Given the description of an element on the screen output the (x, y) to click on. 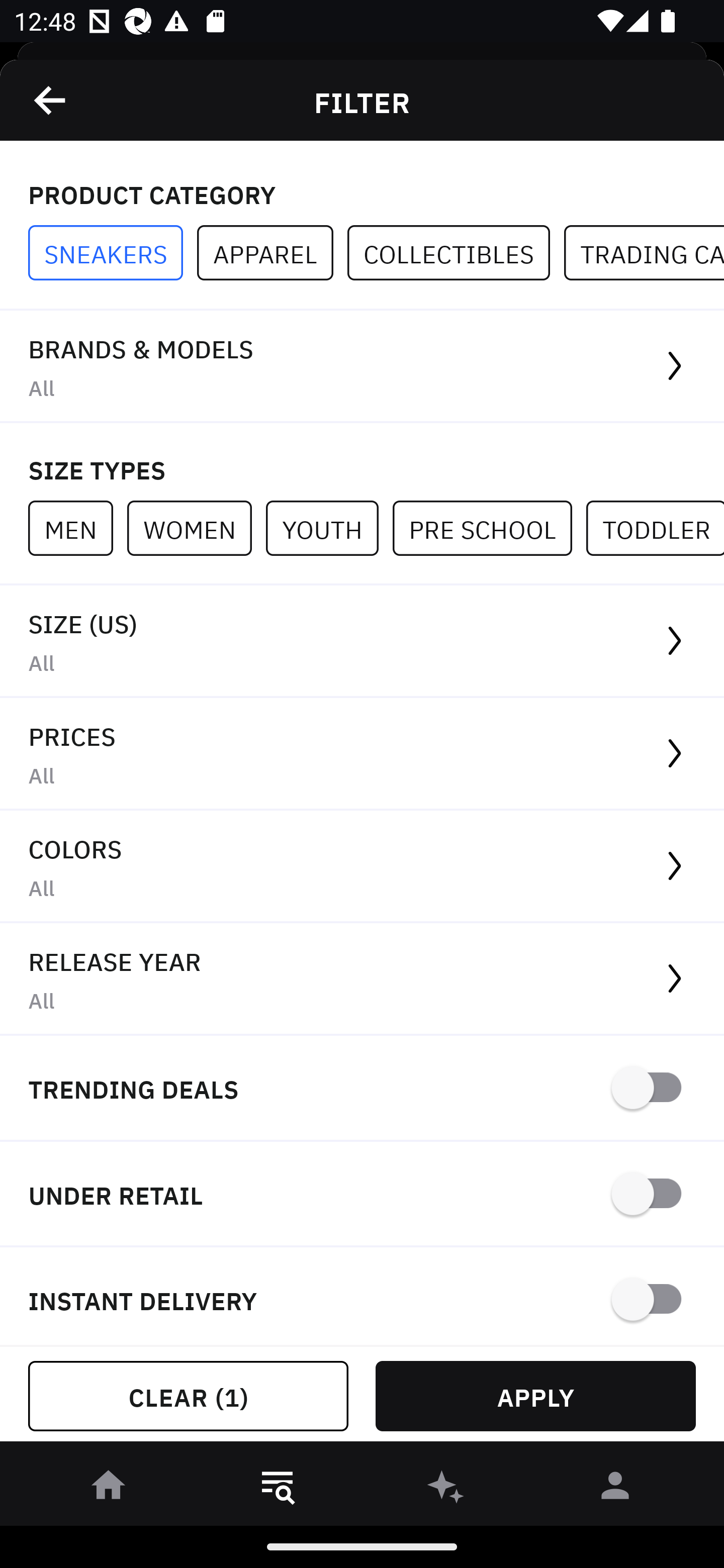
 (50, 100)
SNEAKERS (112, 252)
APPAREL (271, 252)
COLLECTIBLES (455, 252)
TRADING CARDS (643, 252)
BRANDS & MODELS All (362, 366)
MEN (77, 527)
WOMEN (196, 527)
YOUTH (328, 527)
PRE SCHOOL (489, 527)
TODDLER (655, 527)
SIZE (US) All (362, 640)
PRICES All (362, 753)
COLORS All (362, 866)
RELEASE YEAR All (362, 979)
TRENDING DEALS (362, 1088)
UNDER RETAIL (362, 1194)
INSTANT DELIVERY (362, 1296)
CLEAR (1) (188, 1396)
APPLY (535, 1396)
󰋜 (108, 1488)
󱎸 (277, 1488)
󰫢 (446, 1488)
󰀄 (615, 1488)
